Given the description of an element on the screen output the (x, y) to click on. 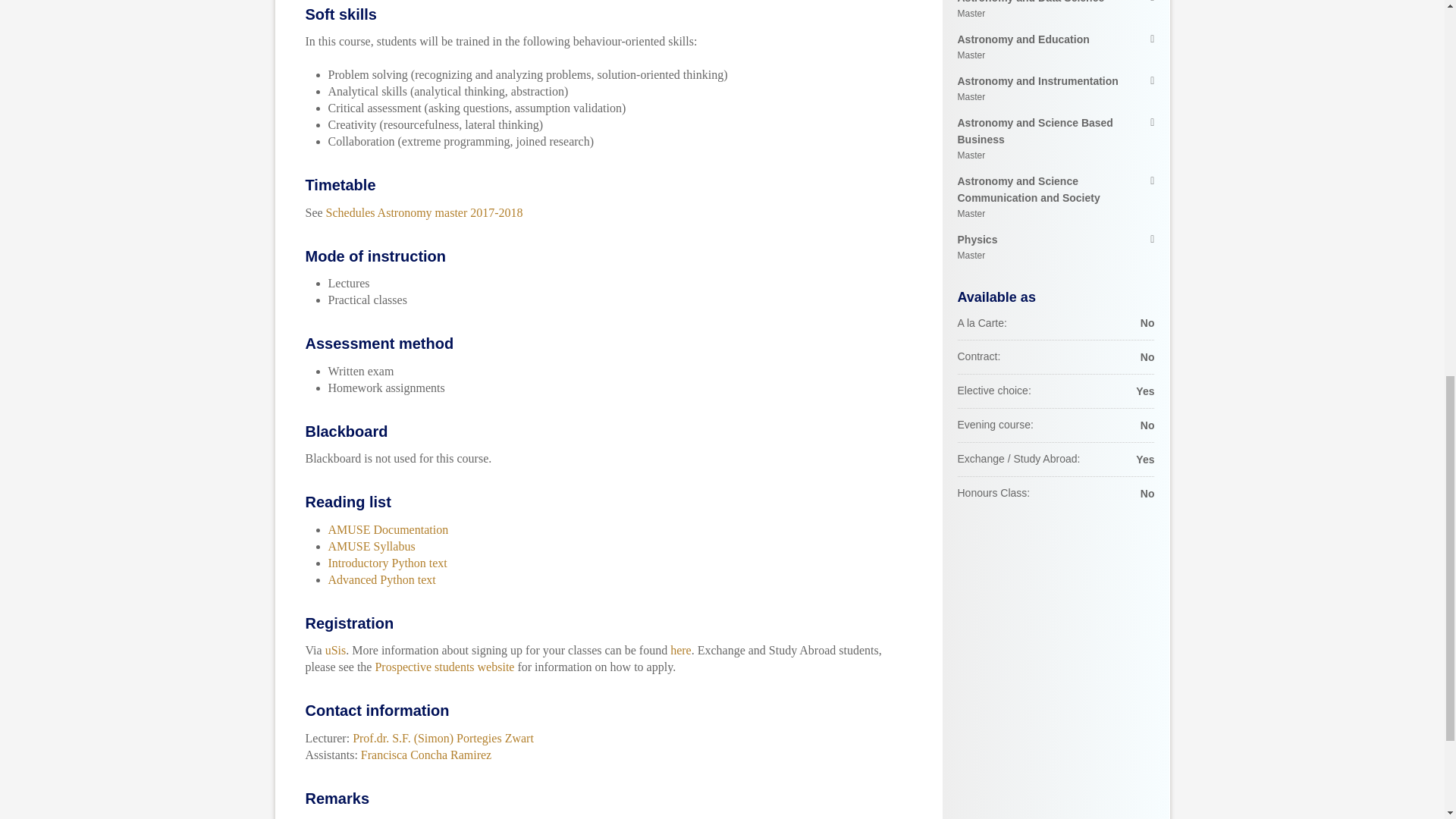
AMUSE Documentation (1055, 247)
Prospective students website (387, 529)
Schedules Astronomy master 2017-2018 (443, 666)
Advanced Python text (424, 212)
Francisca Concha Ramirez (1055, 197)
Introductory Python text (381, 579)
AMUSE Syllabus (1055, 47)
uSis (426, 753)
here (1055, 139)
